Given the description of an element on the screen output the (x, y) to click on. 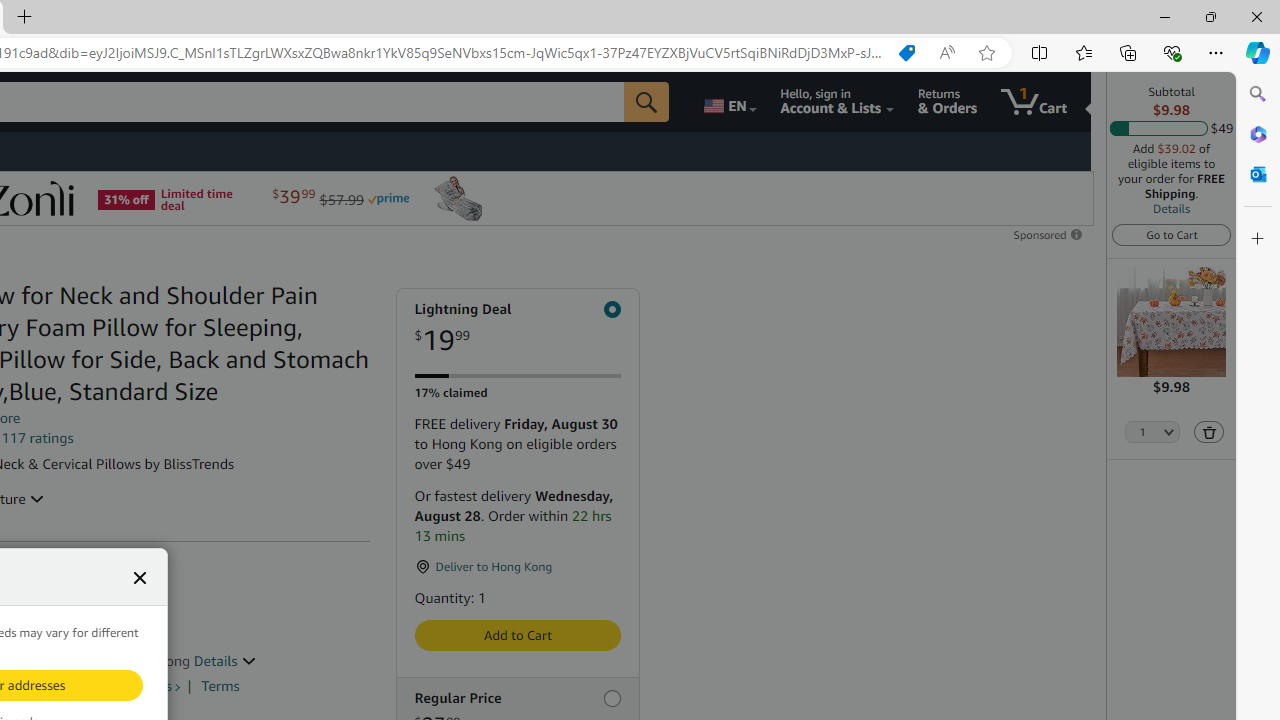
117 ratings (37, 438)
Choose a language for shopping. (728, 101)
Lightning Deal $19.99 (516, 327)
Go to Cart (1171, 234)
